Given the description of an element on the screen output the (x, y) to click on. 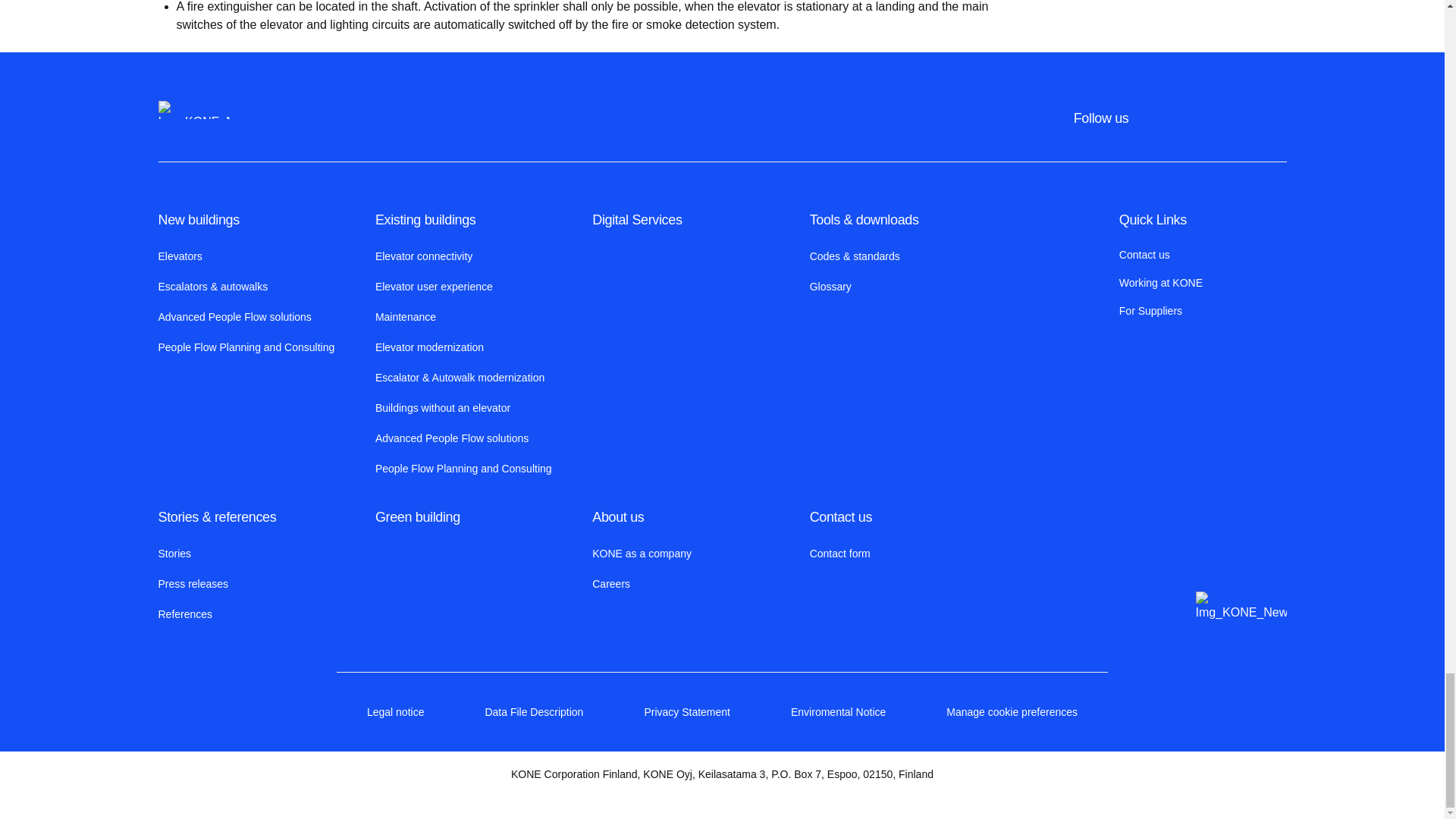
KONE (193, 109)
